Given the description of an element on the screen output the (x, y) to click on. 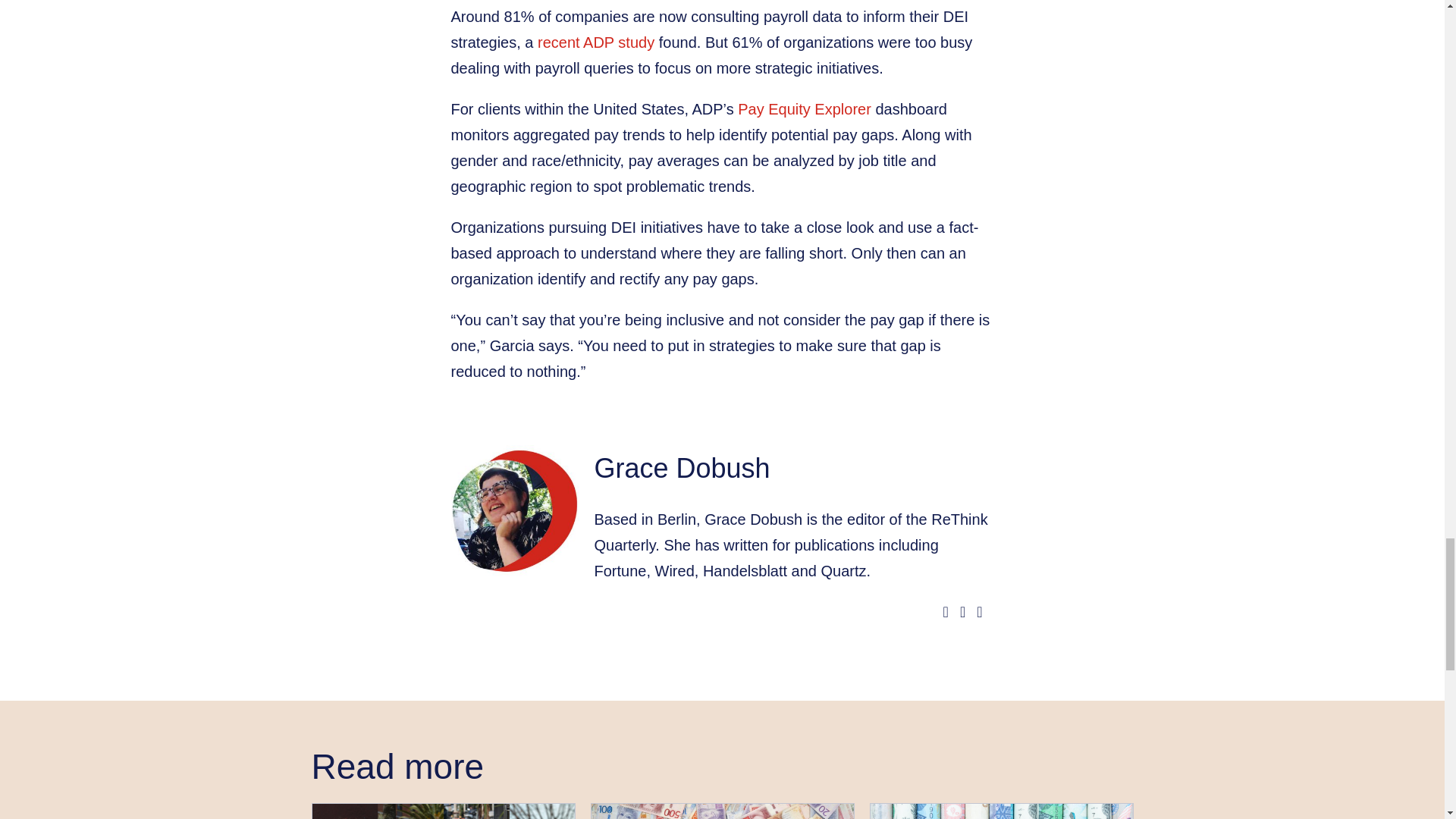
recent ADP study (595, 42)
Pay Equity Explorer (804, 108)
Grace Dobush (682, 468)
